Given the description of an element on the screen output the (x, y) to click on. 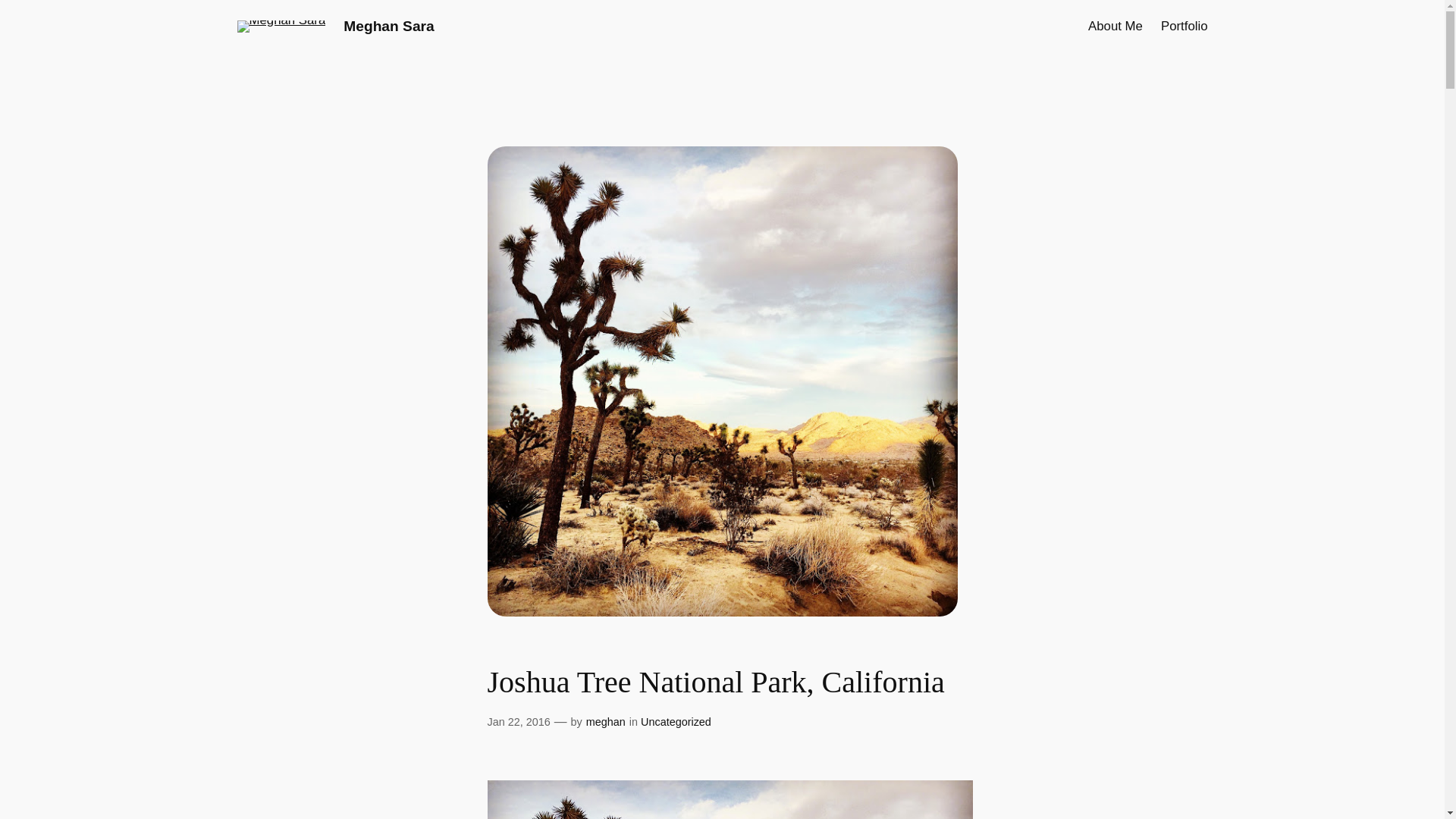
About Me (1114, 26)
Portfolio (1184, 26)
meghan (606, 721)
Jan 22, 2016 (518, 721)
Uncategorized (675, 721)
Meghan Sara (388, 26)
